Given the description of an element on the screen output the (x, y) to click on. 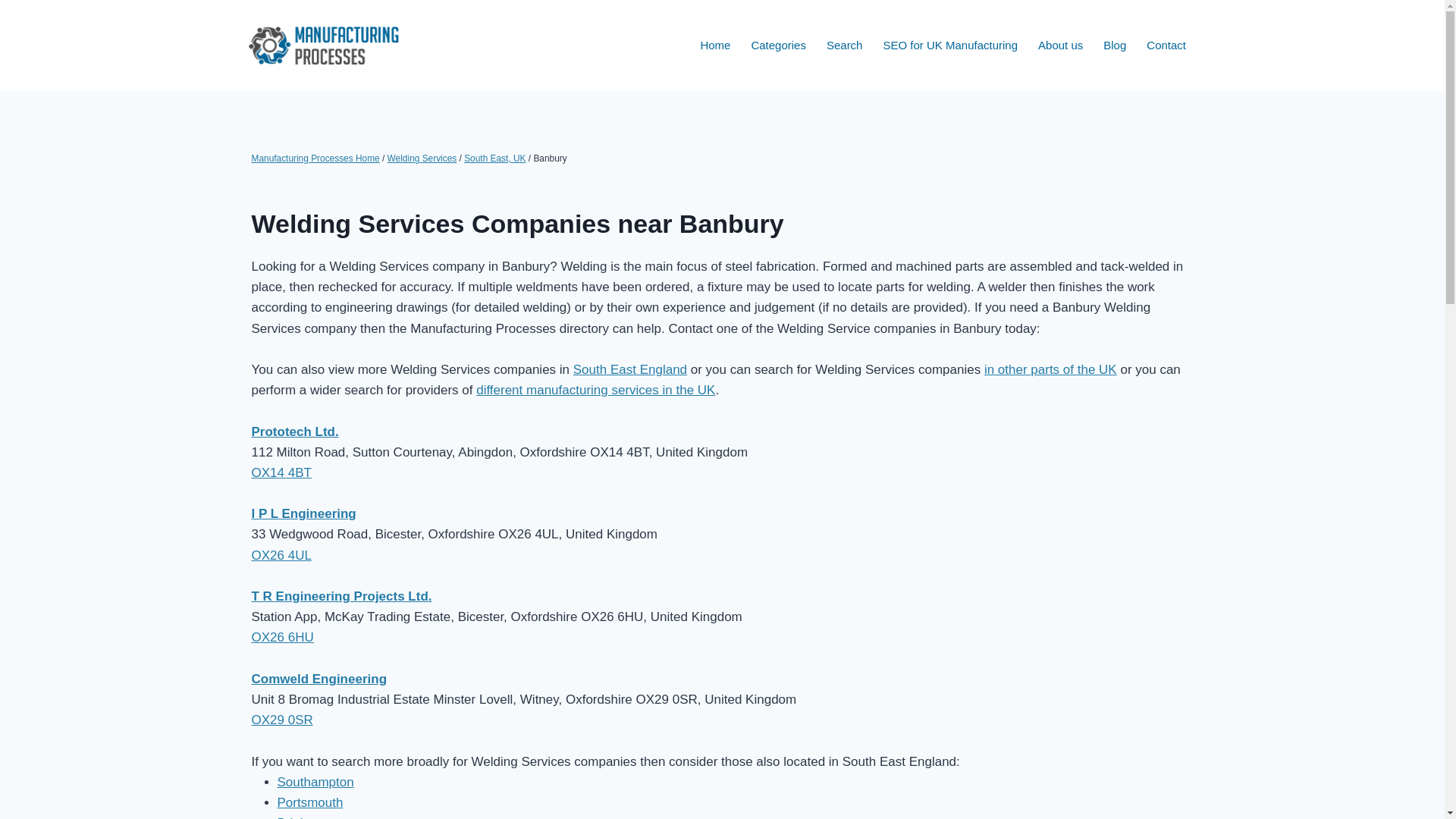
Welding Services (422, 158)
OX29 0SR (282, 719)
Blog (1115, 45)
Comweld Engineering (319, 678)
OX26 4UL (281, 554)
different manufacturing services in the UK (595, 390)
About us (1060, 45)
South East England (630, 369)
OX26 6HU (282, 636)
Manufacturing Processes Home (315, 158)
